Given the description of an element on the screen output the (x, y) to click on. 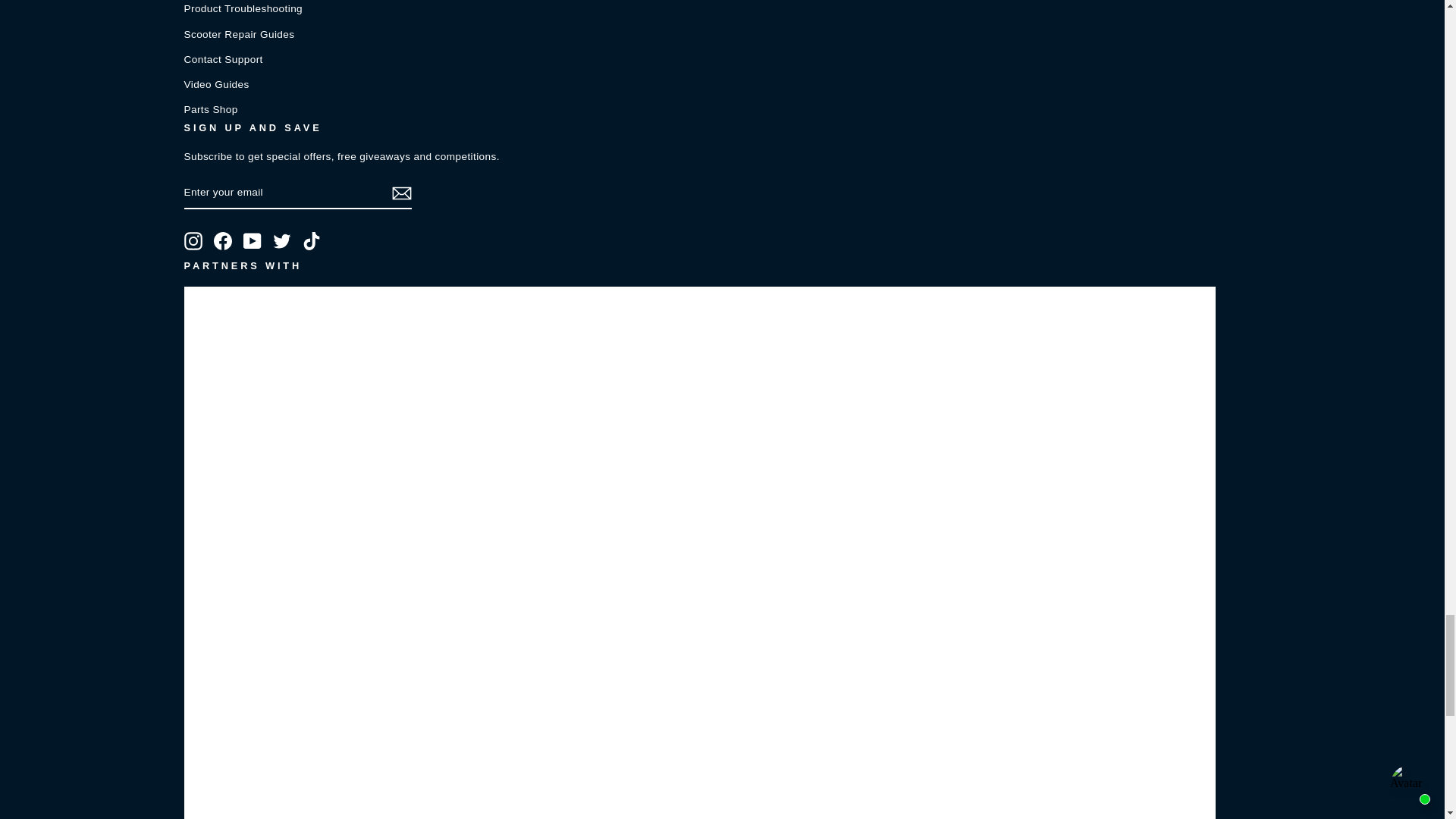
3StyleScooters on YouTube (251, 240)
instagram (192, 240)
3StyleScooters on Facebook (222, 240)
twitter (282, 240)
3StyleScooters on Instagram (192, 240)
3StyleScooters on Twitter (282, 240)
icon-email (400, 193)
3StyleScooters on TikTok (310, 240)
